Given the description of an element on the screen output the (x, y) to click on. 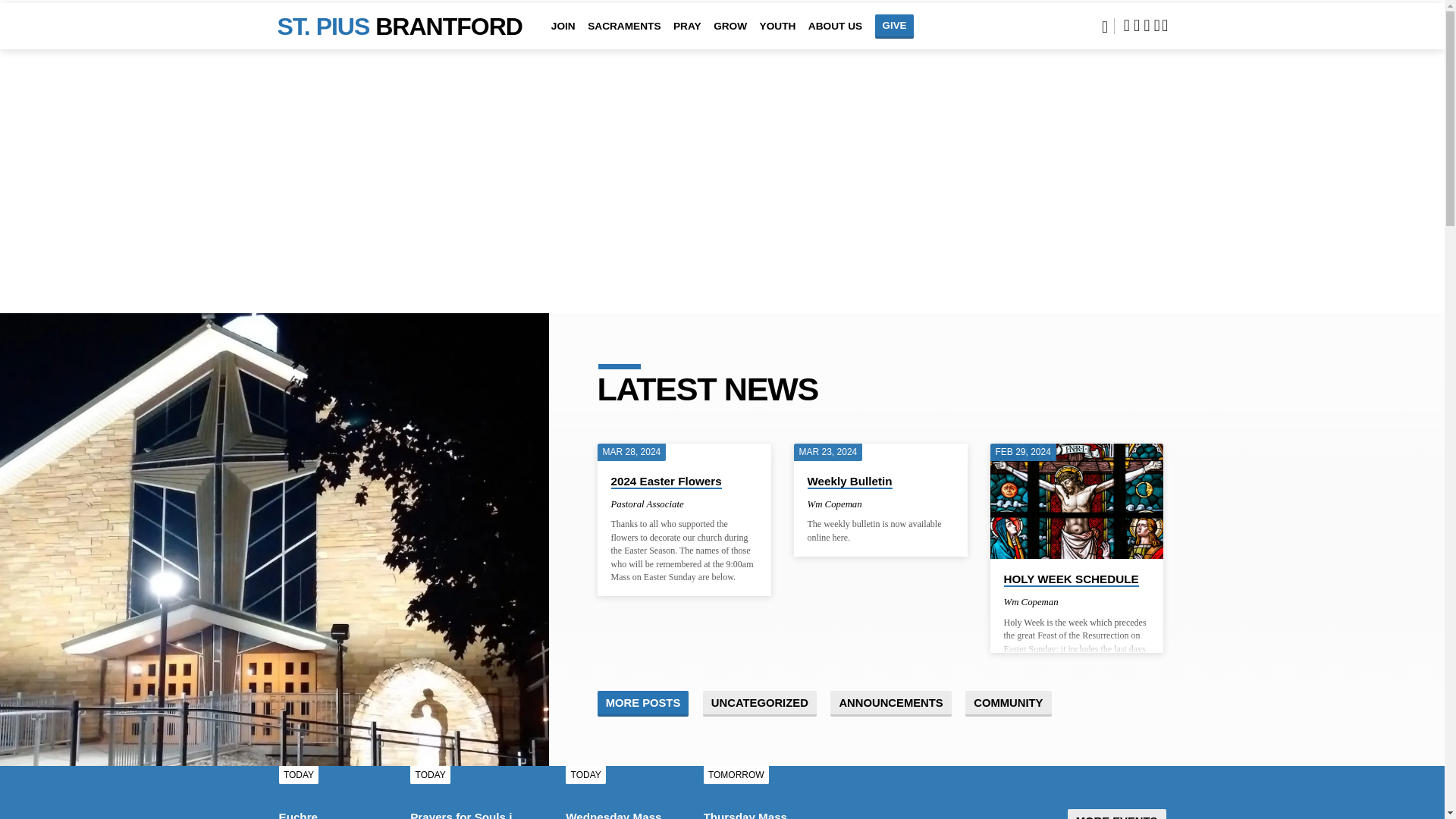
GROW (729, 35)
SACRAMENTS (624, 35)
Prayers for Souls in Purgatory (493, 814)
Euchre (298, 814)
ST. PIUS BRANTFORD (400, 25)
YOUTH (778, 35)
HOLY WEEK SCHEDULE (1076, 501)
ABOUT US (834, 35)
